Given the description of an element on the screen output the (x, y) to click on. 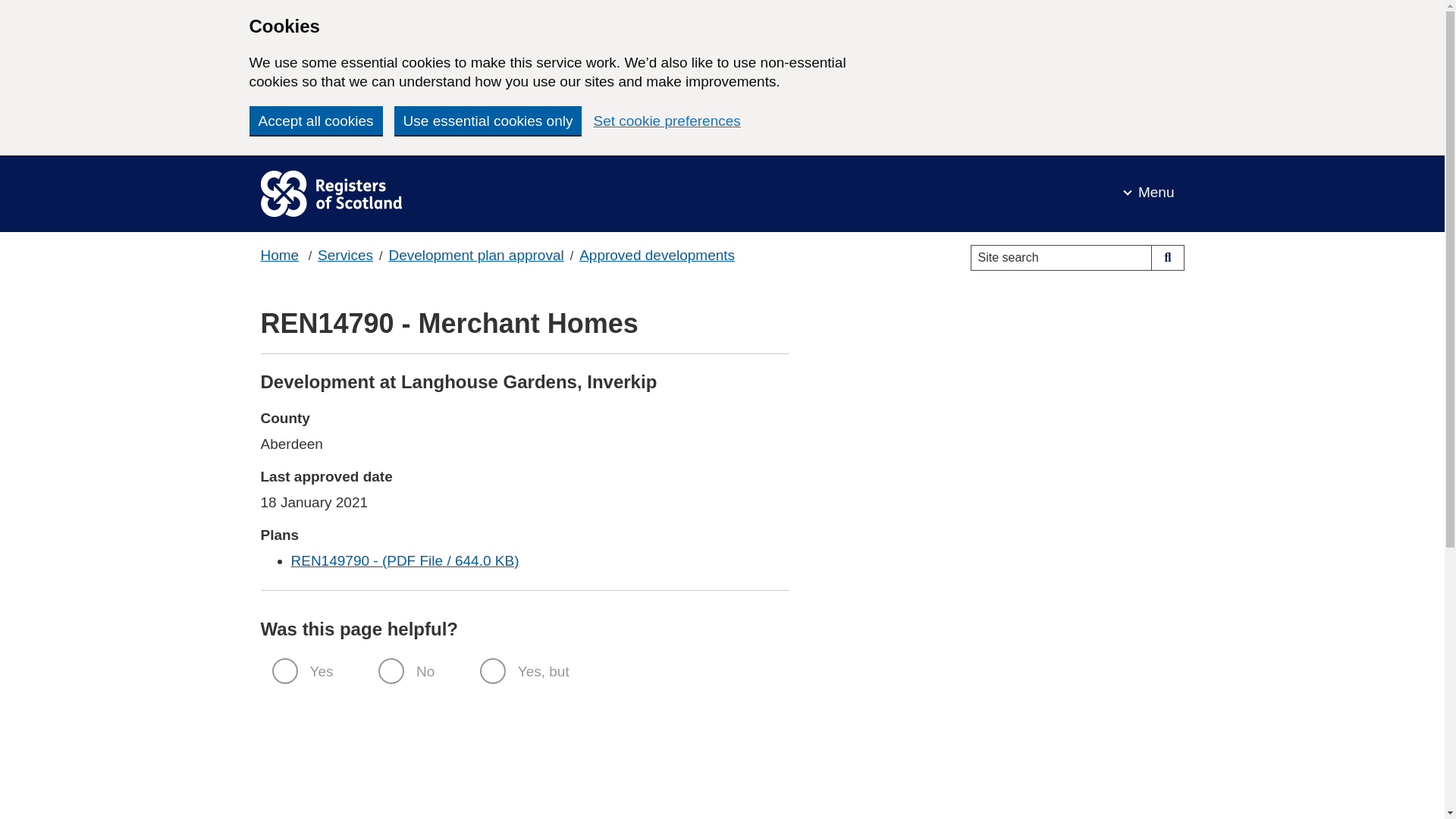
Set cookie preferences (665, 120)
Approved developments (657, 254)
Menu (1149, 192)
Services (344, 254)
Home (279, 254)
Search Registers of Scotland (1167, 257)
Use essential cookies only (488, 120)
Development plan approval (475, 254)
Accept all cookies (314, 120)
